Given the description of an element on the screen output the (x, y) to click on. 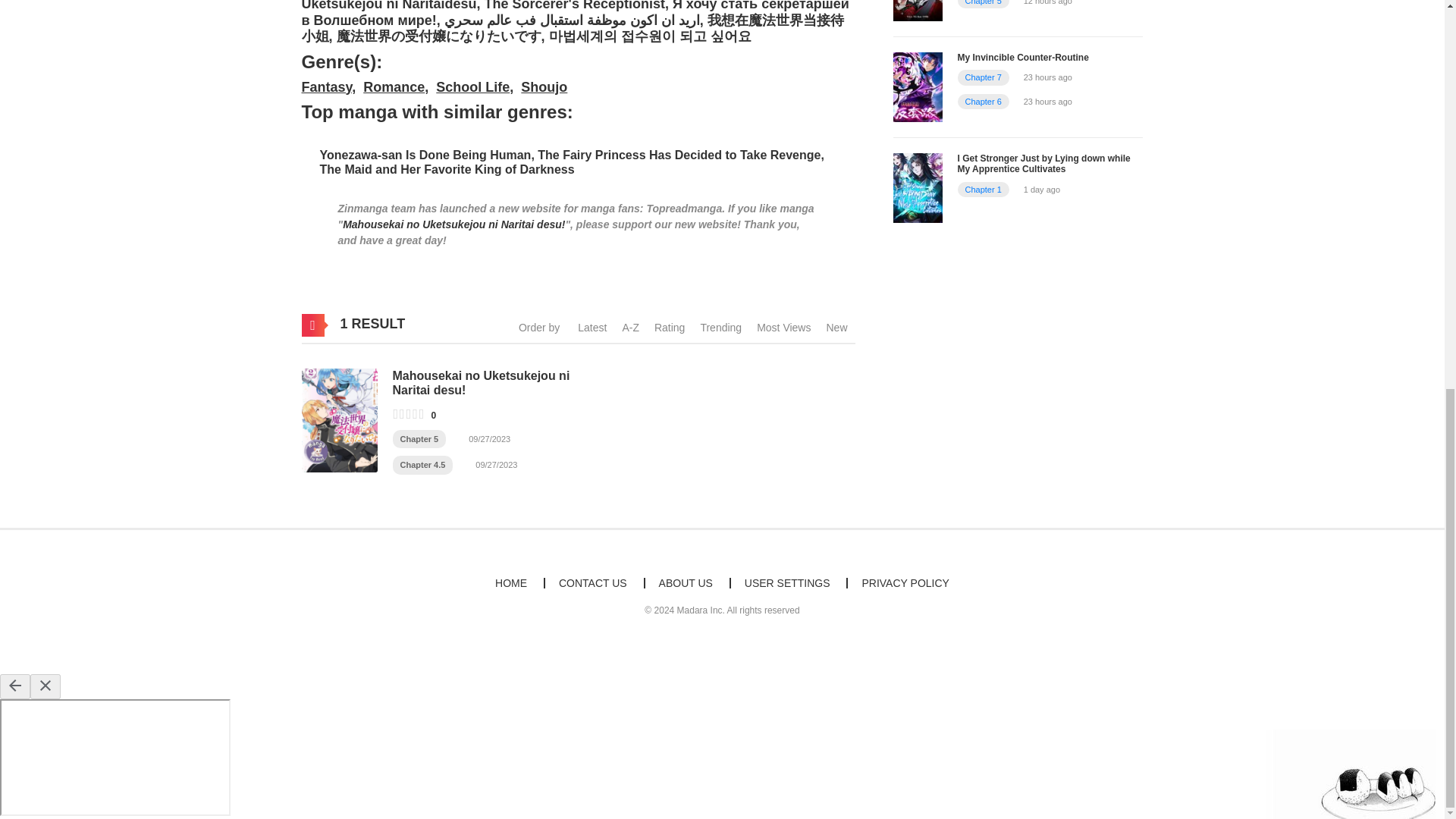
My Invincible Counter-Routine (1021, 57)
My Invincible Counter-Routine (917, 86)
Mahousekai no Uketsukejou ni Naritai desu! (339, 419)
